Given the description of an element on the screen output the (x, y) to click on. 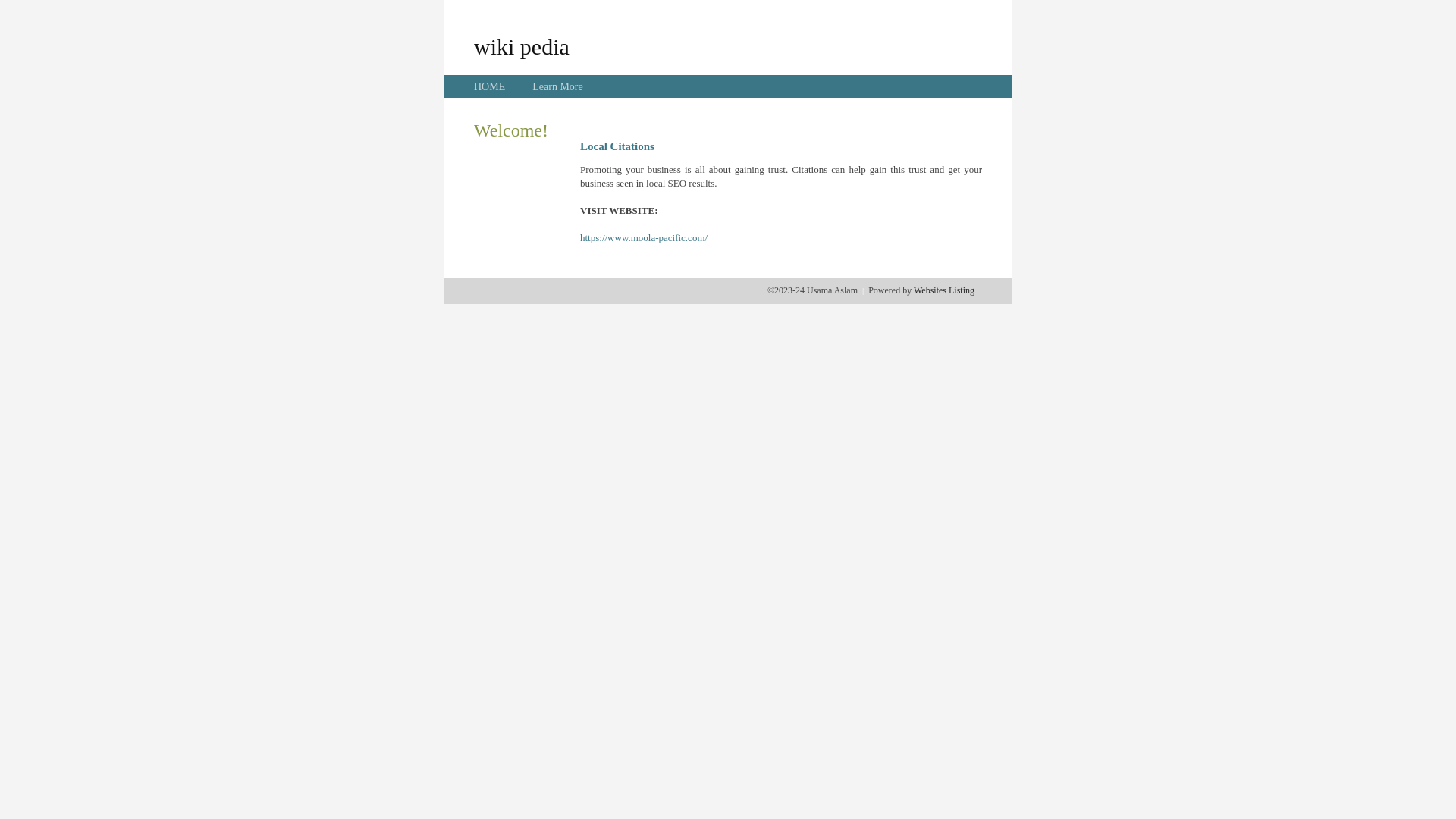
wiki pedia Element type: text (521, 46)
https://www.moola-pacific.com/ Element type: text (643, 237)
Learn More Element type: text (557, 86)
HOME Element type: text (489, 86)
Websites Listing Element type: text (943, 290)
